Given the description of an element on the screen output the (x, y) to click on. 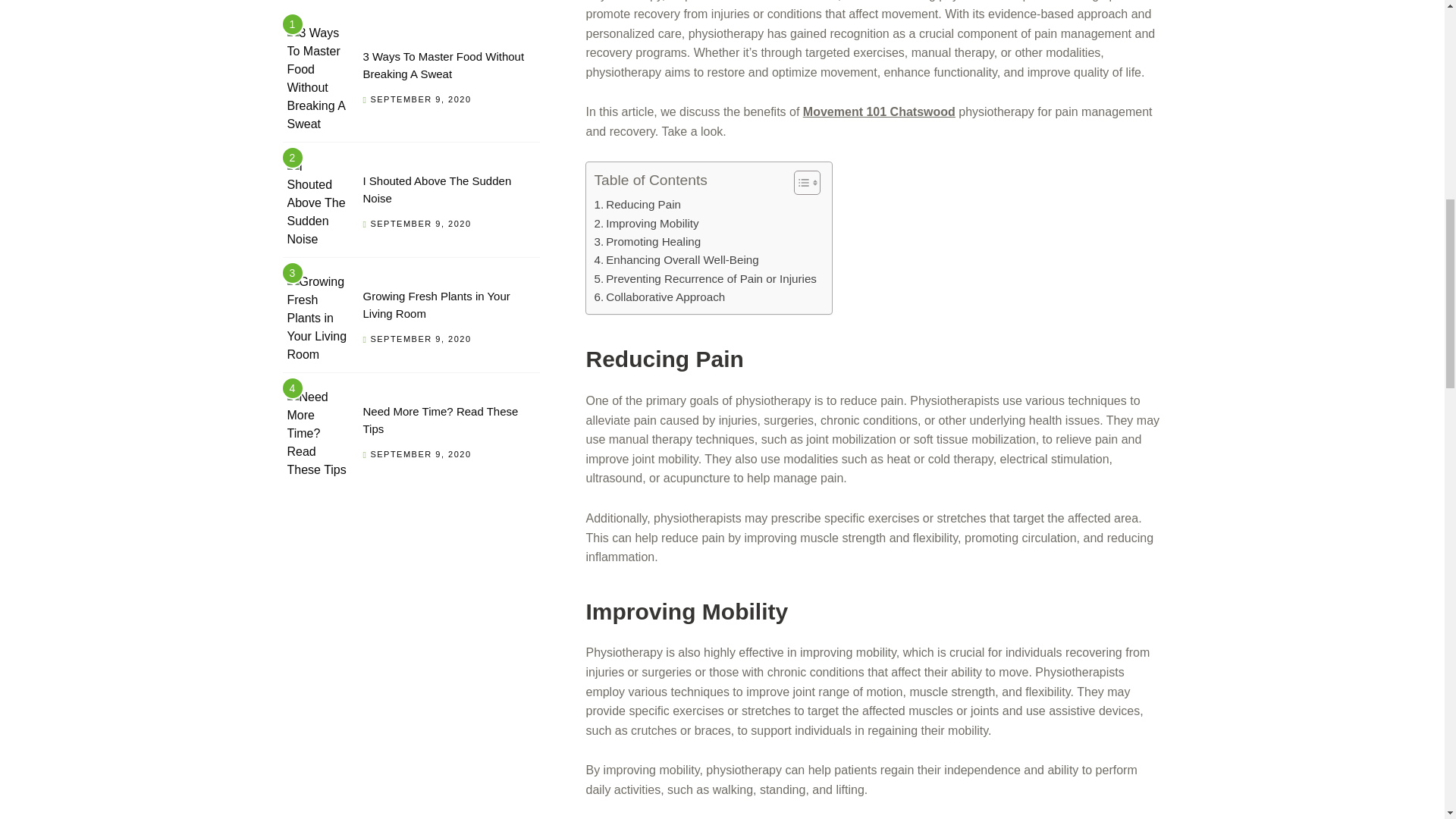
Movement 101 Chatswood (879, 111)
SEPTEMBER 9, 2020 (419, 338)
Permalink to Growing Fresh Plants in Your Living Room (435, 304)
SEPTEMBER 9, 2020 (419, 99)
Permalink to Need More Time? Read These Tips (440, 419)
Growing Fresh Plants in Your Living Room (435, 304)
SEPTEMBER 9, 2020 (419, 223)
Collaborative Approach (659, 297)
Permalink to 3 Ways To Master Food Without Breaking A Sweat (443, 64)
Preventing Recurrence of Pain or Injuries (704, 279)
